Given the description of an element on the screen output the (x, y) to click on. 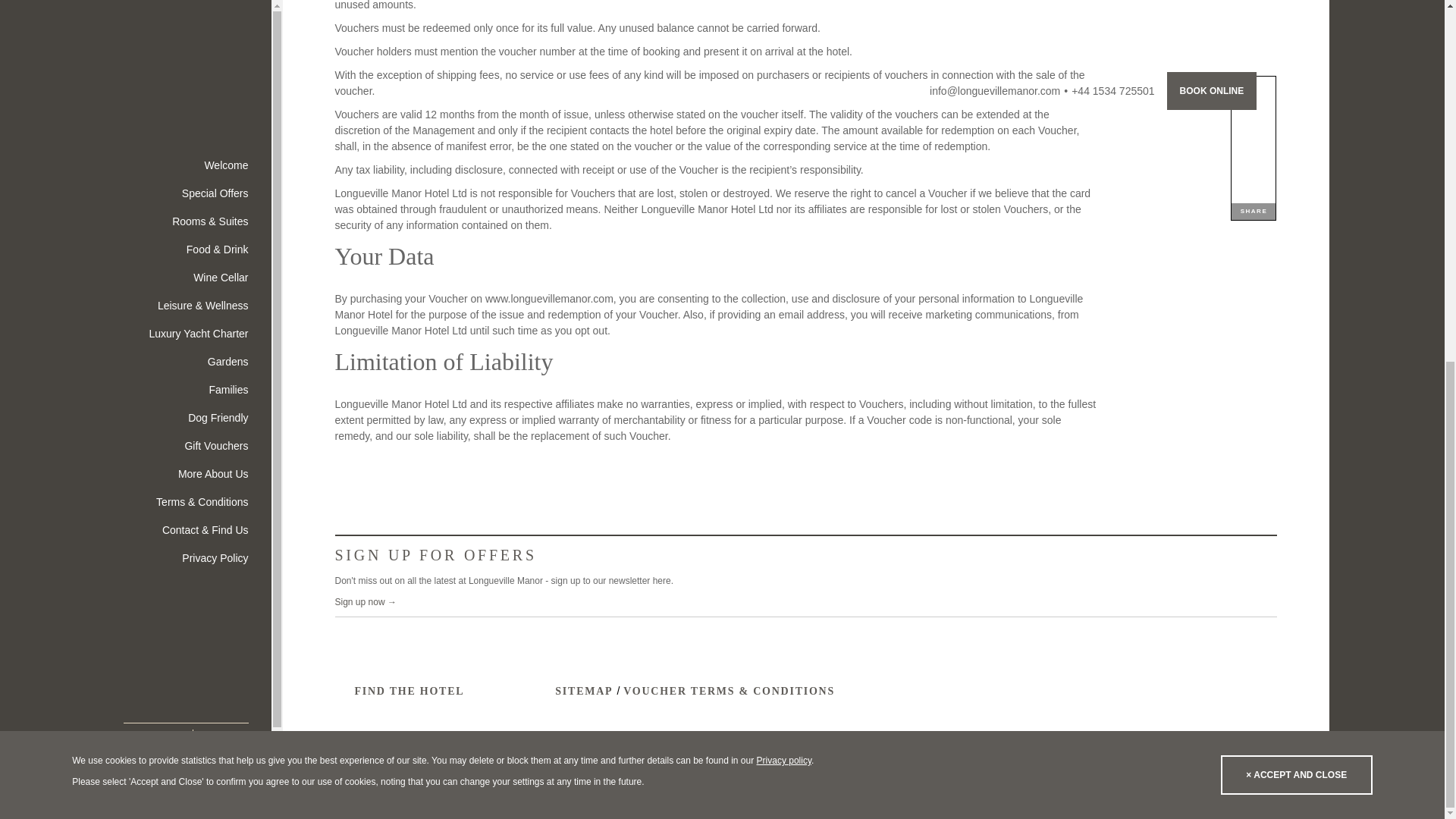
Privacy Policy (783, 116)
